Given the description of an element on the screen output the (x, y) to click on. 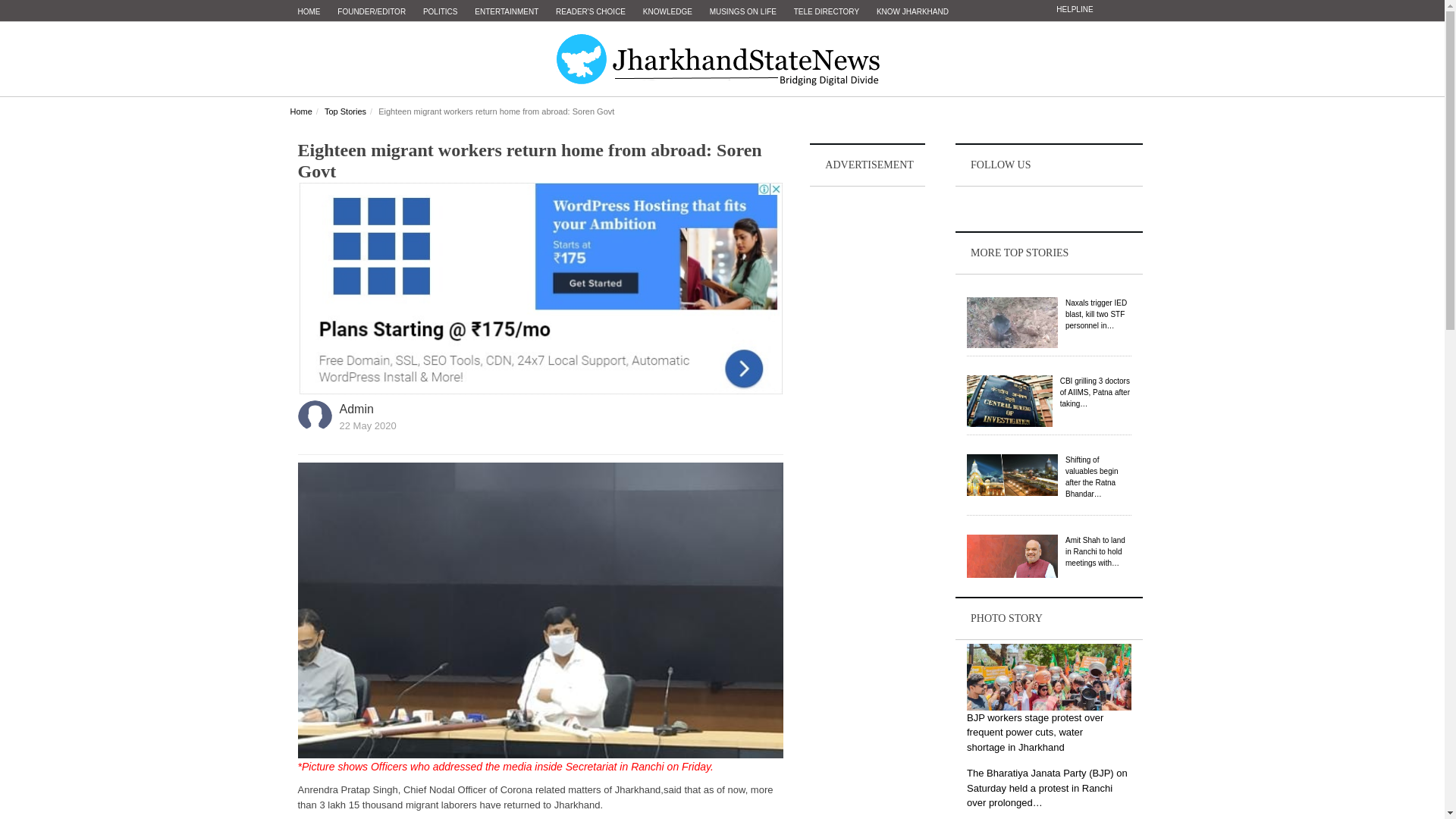
KNOW JHARKHAND (912, 11)
Top Stories (345, 111)
POLITICS (439, 11)
HELPLINE (1074, 9)
Home (300, 111)
TELE DIRECTORY (826, 11)
MUSINGS ON LIFE (742, 11)
READER'S CHOICE (590, 11)
HOME (308, 11)
ENTERTAINMENT (506, 11)
Advertisement (867, 416)
KNOWLEDGE (667, 11)
